Given the description of an element on the screen output the (x, y) to click on. 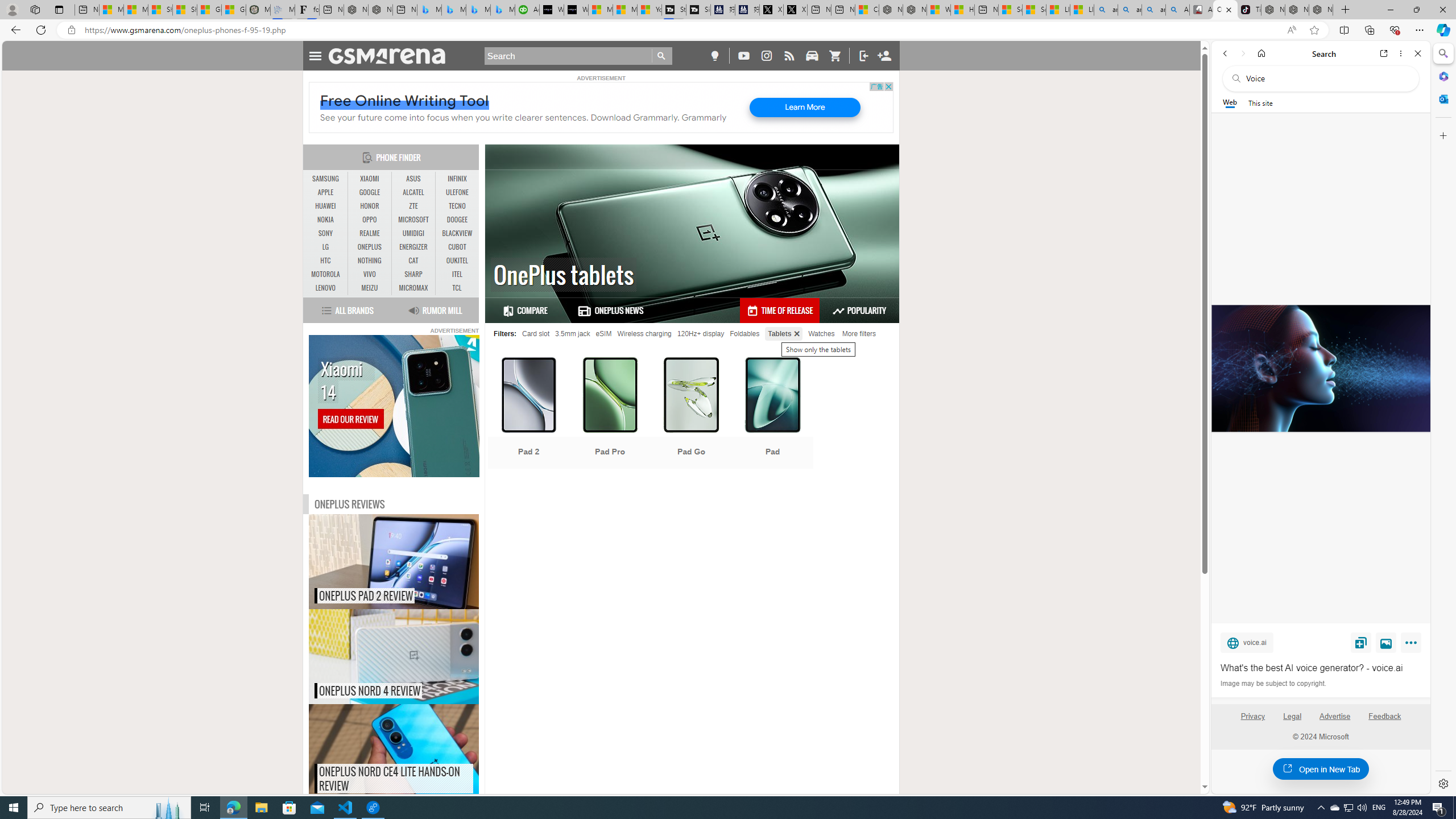
Card slot (536, 333)
MEIZU (369, 287)
LENOVO (325, 287)
OUKITEL (457, 260)
REALME (369, 233)
NOKIA (325, 219)
MICROMAX (413, 287)
ZTE (413, 206)
eSIM (603, 333)
REALME (369, 233)
DOOGEE (457, 219)
